Given the description of an element on the screen output the (x, y) to click on. 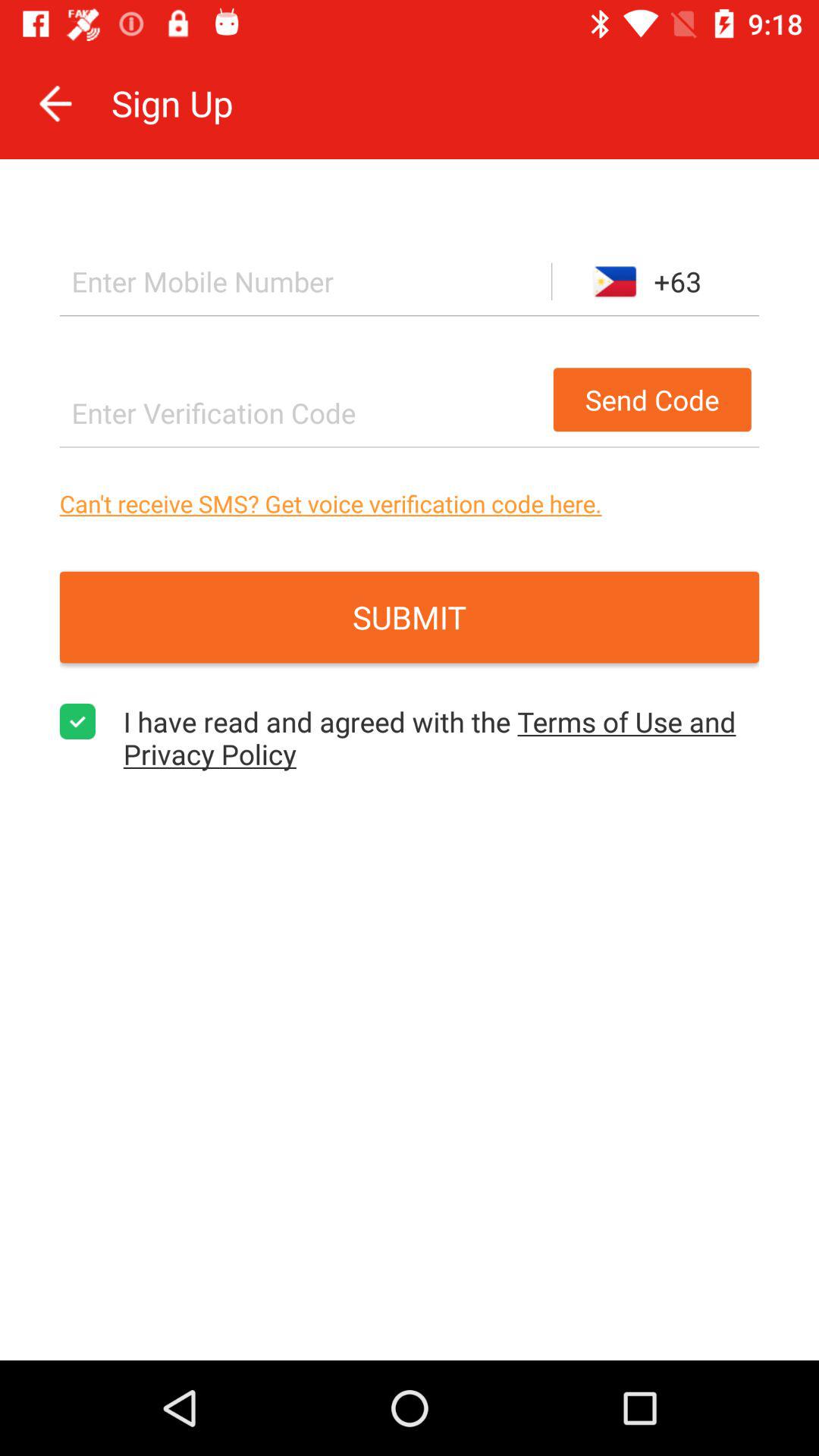
choose icon above submit item (409, 503)
